Given the description of an element on the screen output the (x, y) to click on. 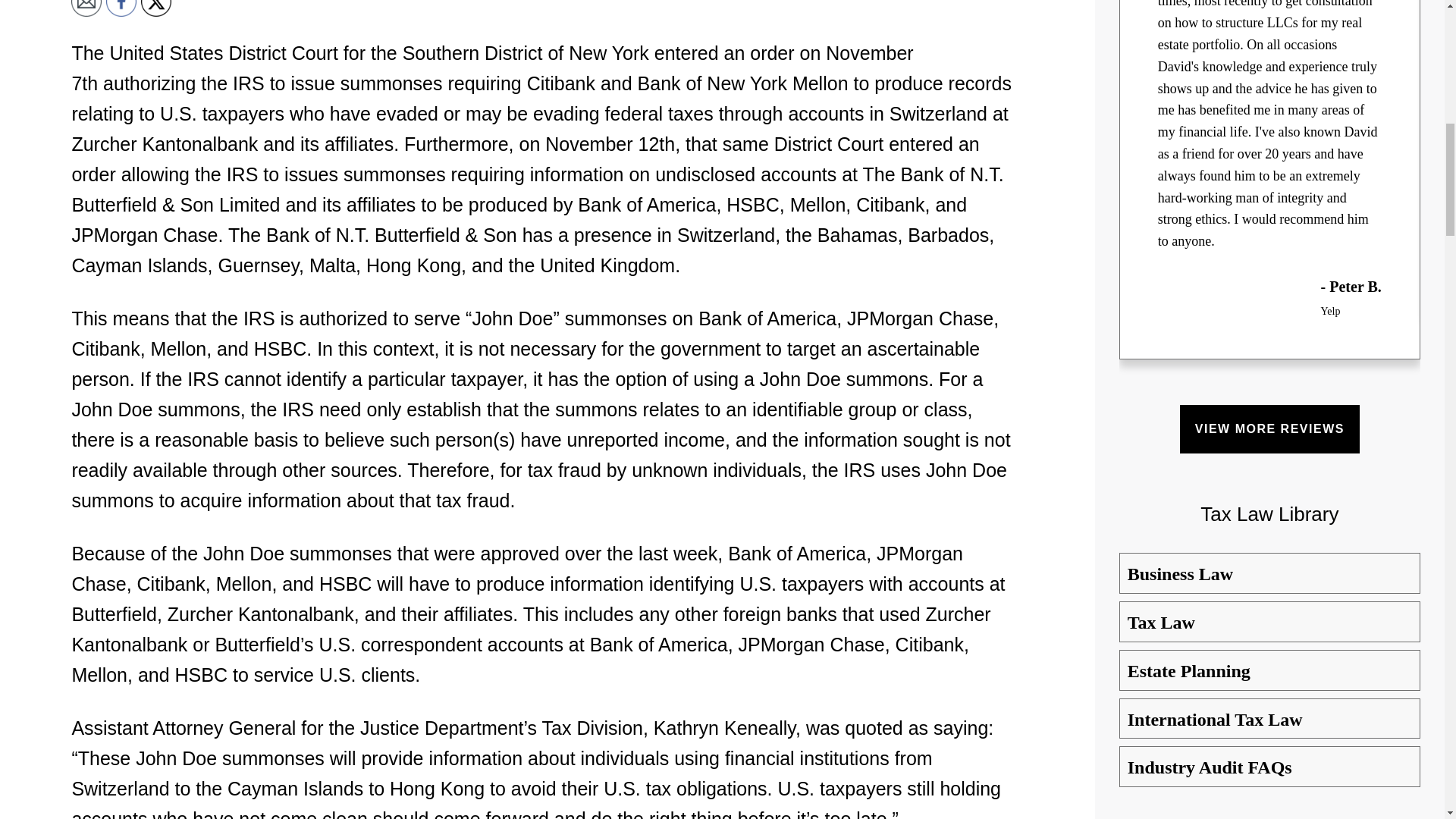
Follow by Email (86, 8)
Facebook (121, 8)
